Given the description of an element on the screen output the (x, y) to click on. 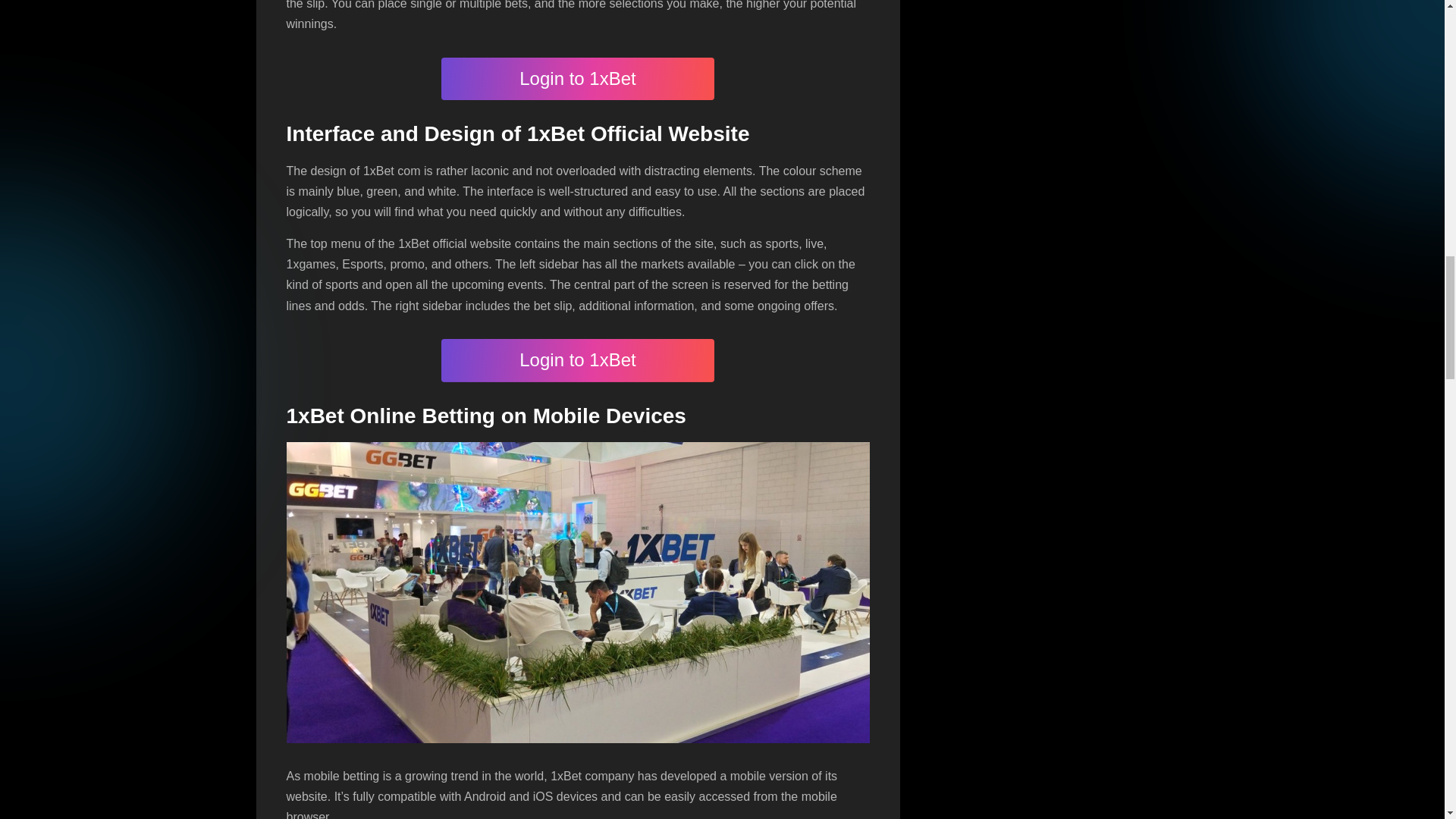
Login to 1xBet (577, 360)
Login to 1xBet (577, 78)
